Given the description of an element on the screen output the (x, y) to click on. 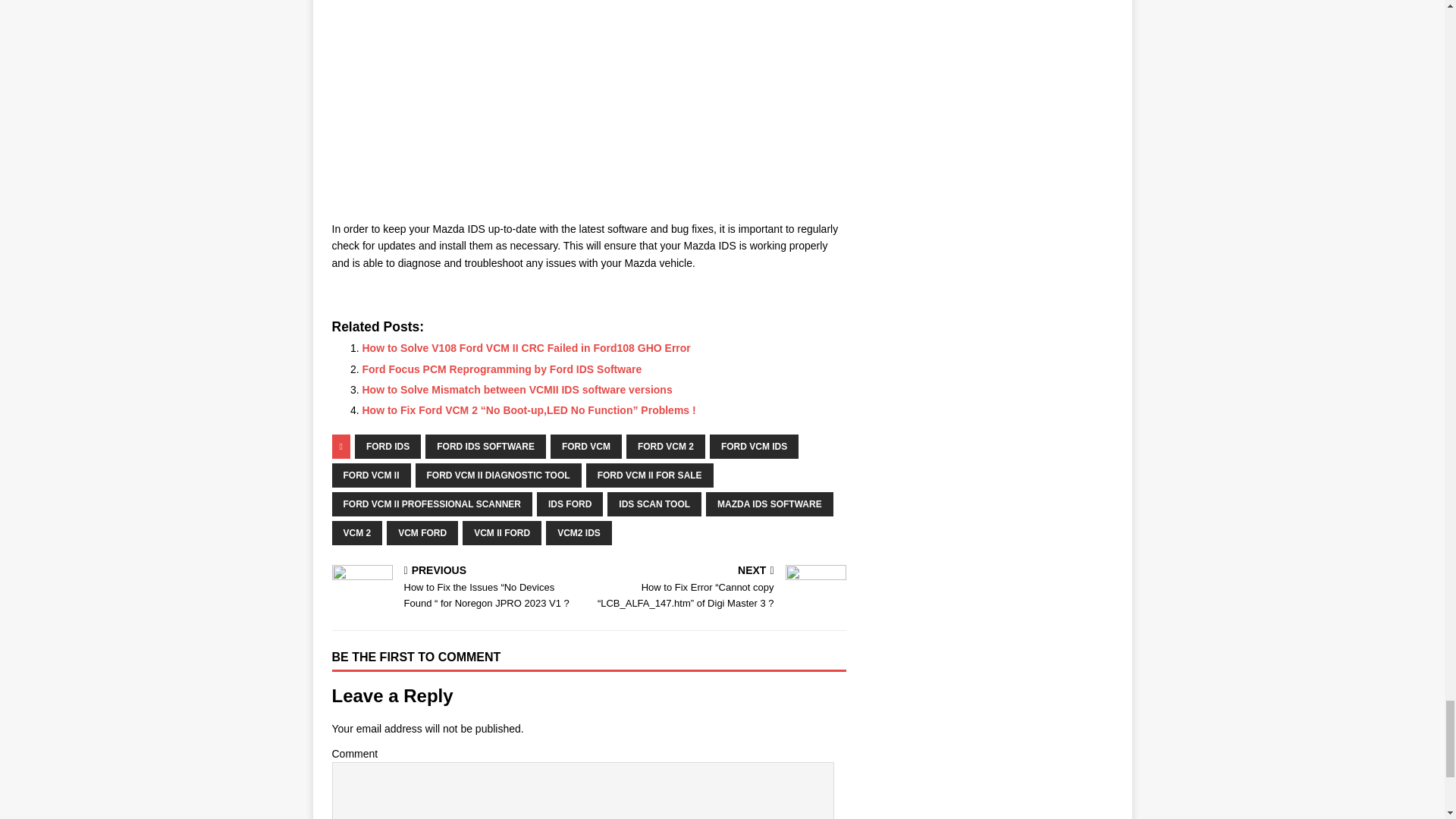
How to Solve Mismatch between VCMII IDS software versions (517, 389)
Ford Focus PCM Reprogramming by Ford IDS Software (502, 369)
